Given the description of an element on the screen output the (x, y) to click on. 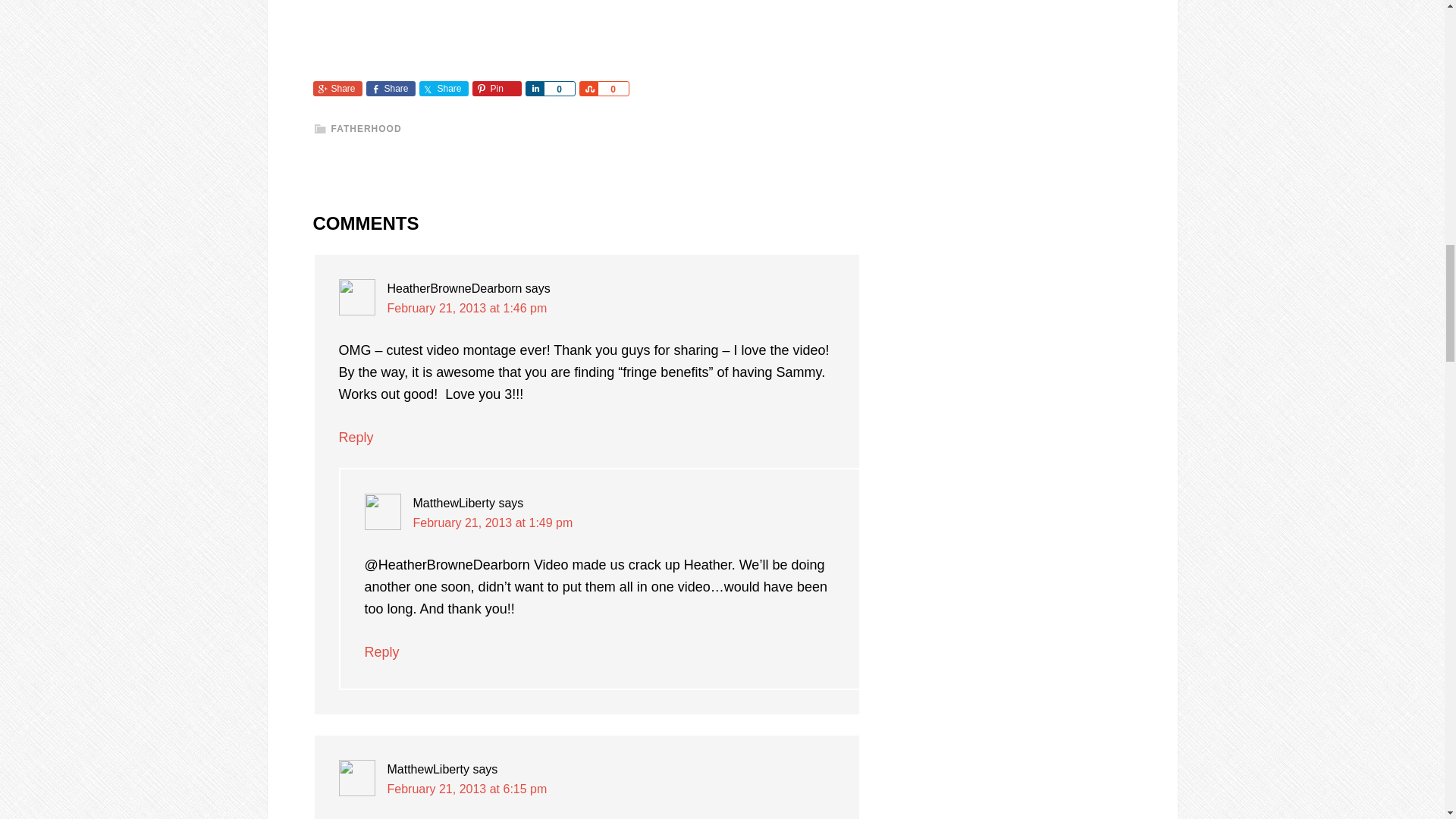
February 21, 2013 at 1:49 pm (492, 522)
0 (612, 88)
February 21, 2013 at 1:46 pm (467, 308)
Share (389, 88)
Reply (381, 652)
Sammy0 3 (502, 26)
February 21, 2013 at 6:15 pm (467, 788)
Reply (354, 437)
Share (337, 88)
Share (443, 88)
FATHERHOOD (365, 128)
Share (533, 88)
Share (587, 88)
0 (559, 88)
Pin (496, 88)
